Given the description of an element on the screen output the (x, y) to click on. 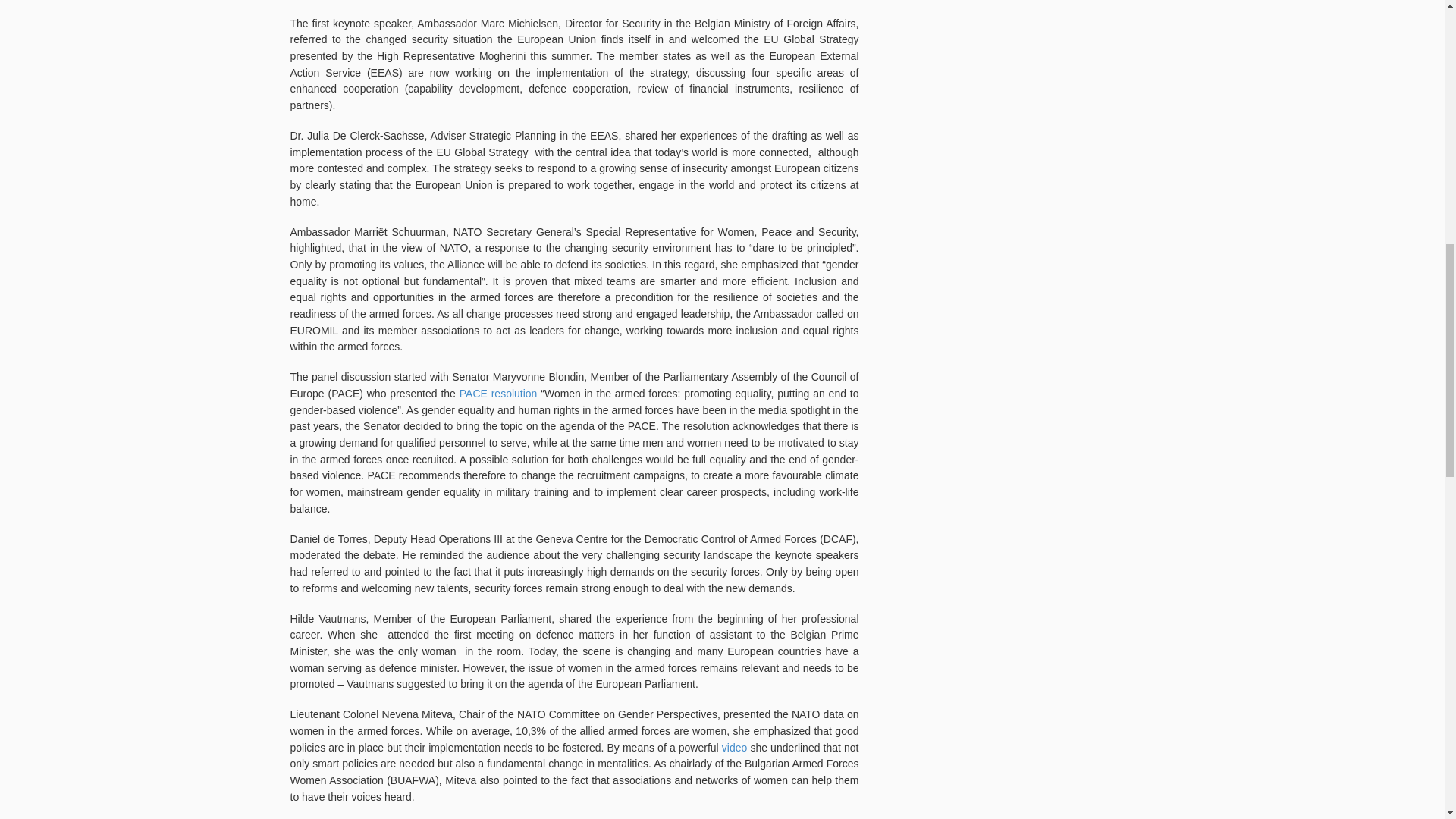
PACE resolution (498, 393)
video (736, 747)
